Given the description of an element on the screen output the (x, y) to click on. 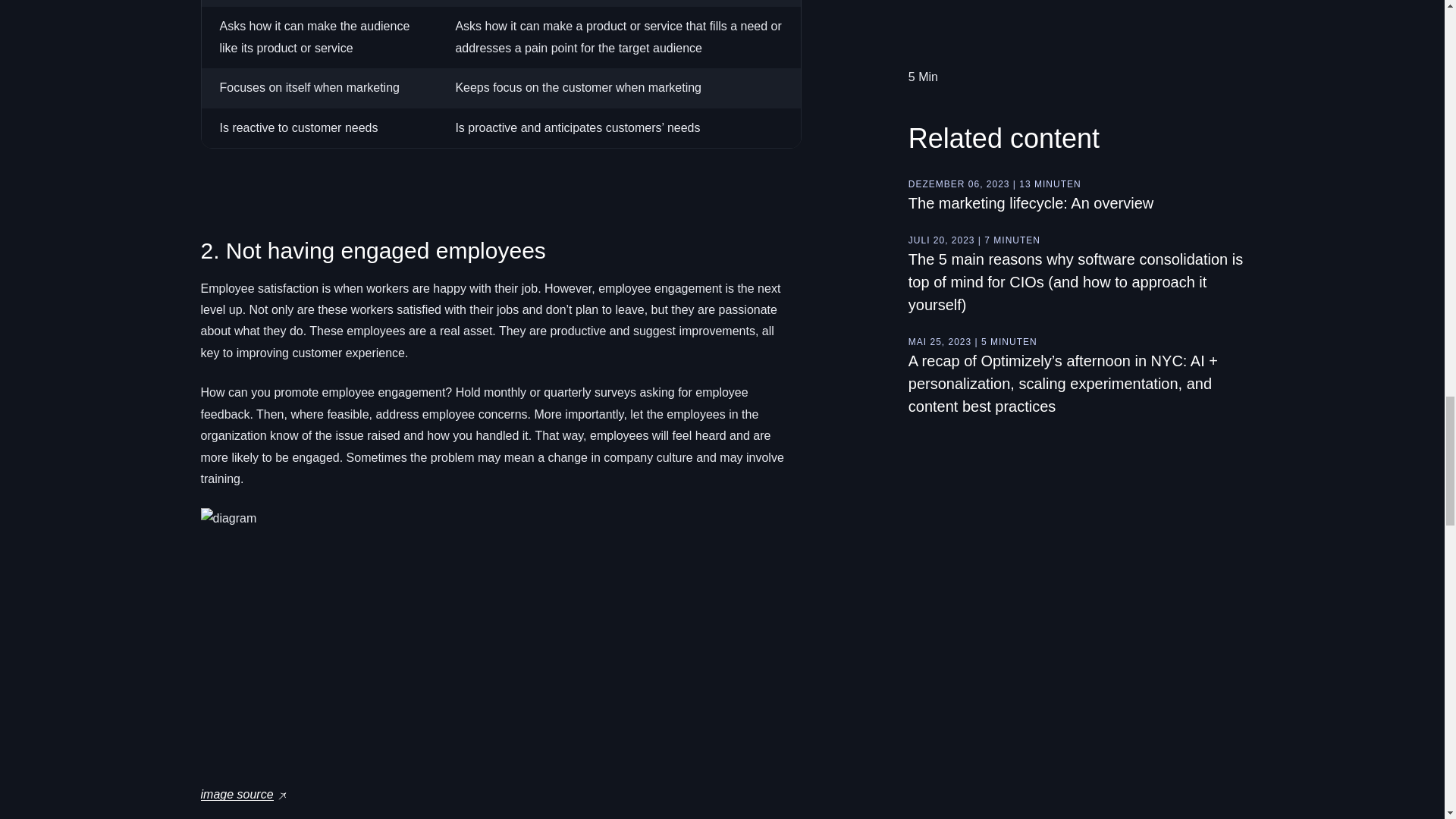
image source (236, 793)
